Given the description of an element on the screen output the (x, y) to click on. 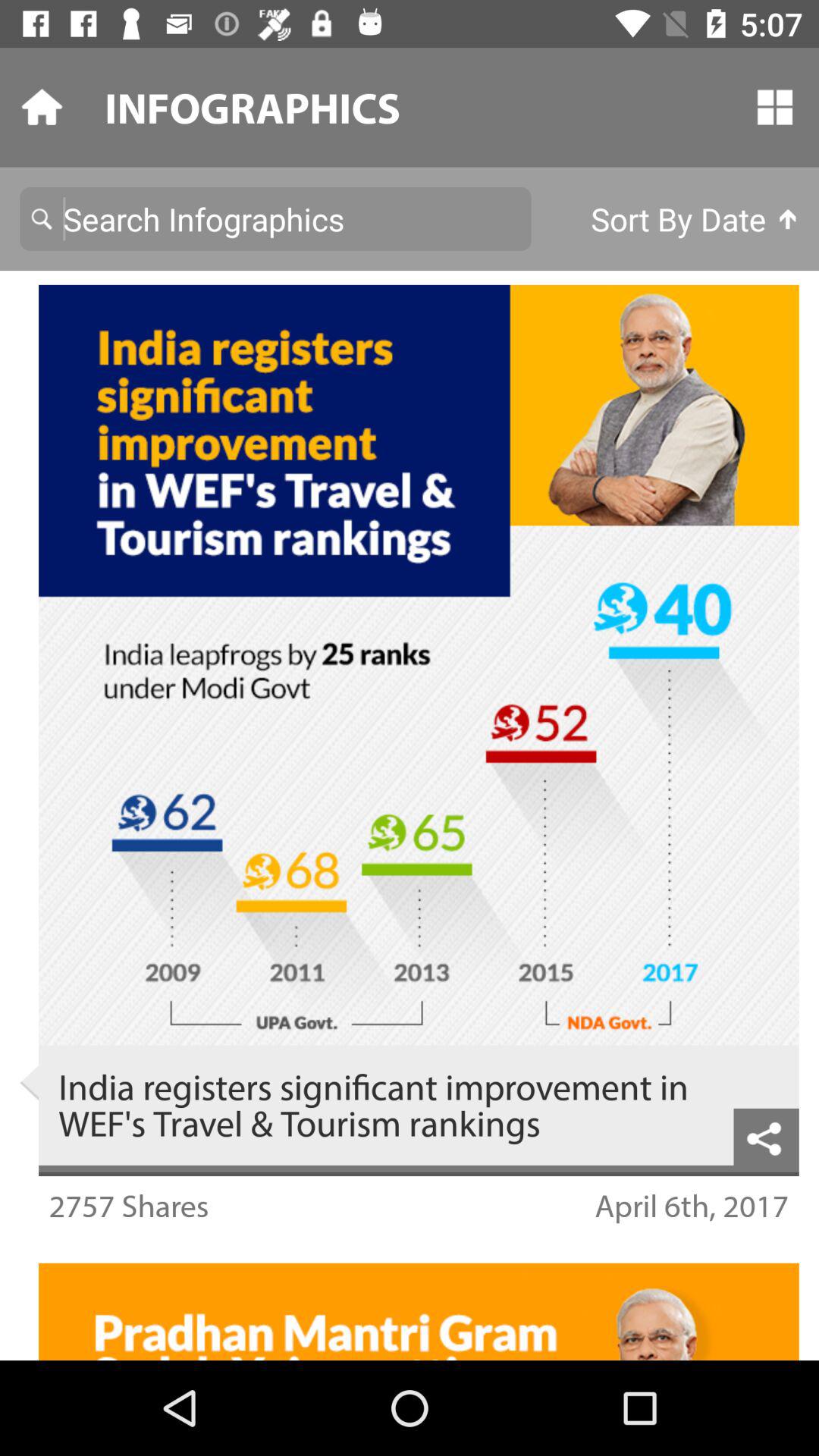
tap item to the left of the april 6th, 2017 (128, 1205)
